Given the description of an element on the screen output the (x, y) to click on. 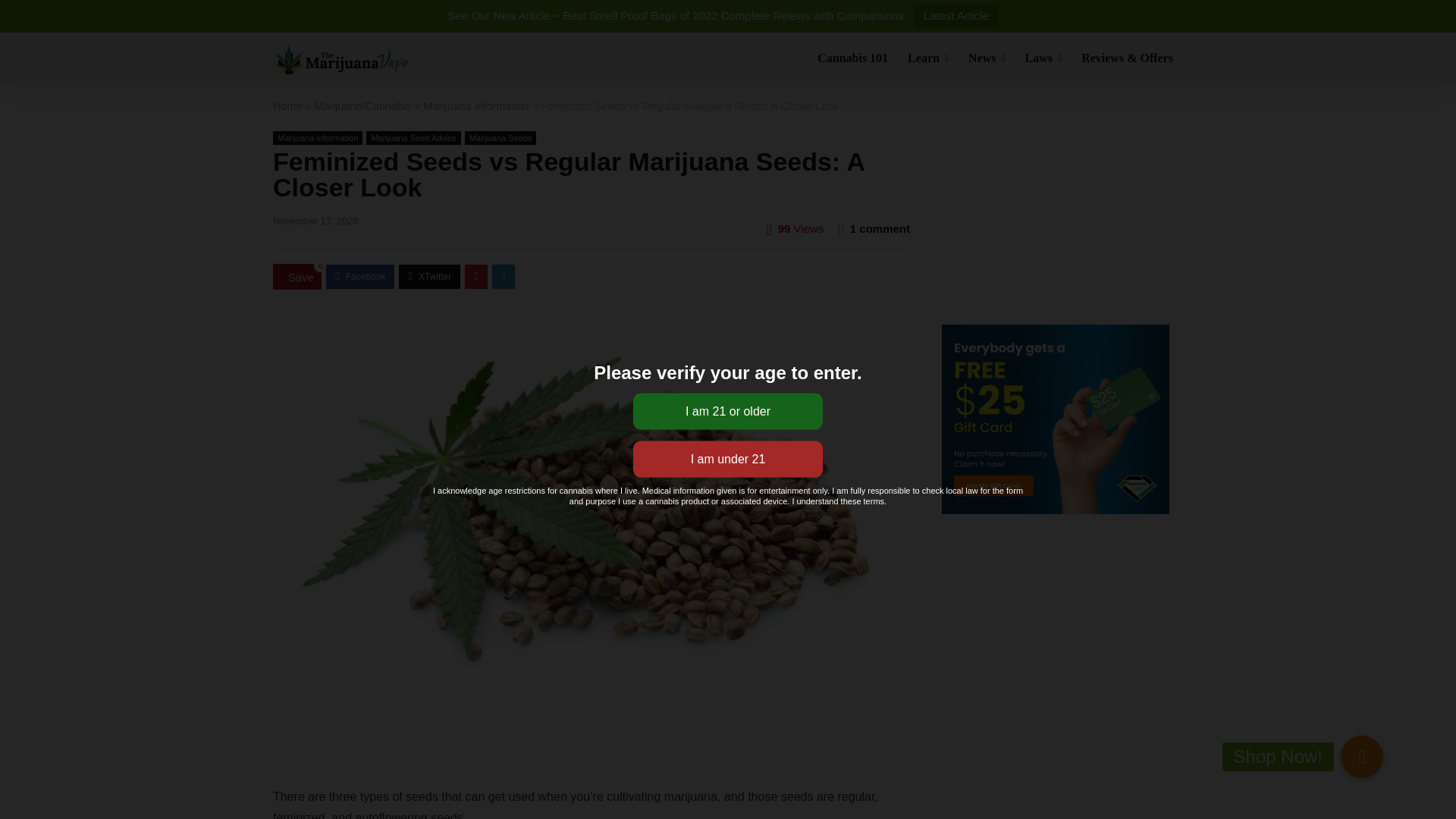
I am under 21 (727, 459)
View all posts in Marijuana Seed Advice (413, 137)
View all posts in Marijuana Seeds (500, 137)
Learn (928, 59)
I am 21 or older (727, 411)
Latest Article (955, 15)
Cannabis 101 (853, 59)
View all posts in Marijuana Information (317, 137)
